Given the description of an element on the screen output the (x, y) to click on. 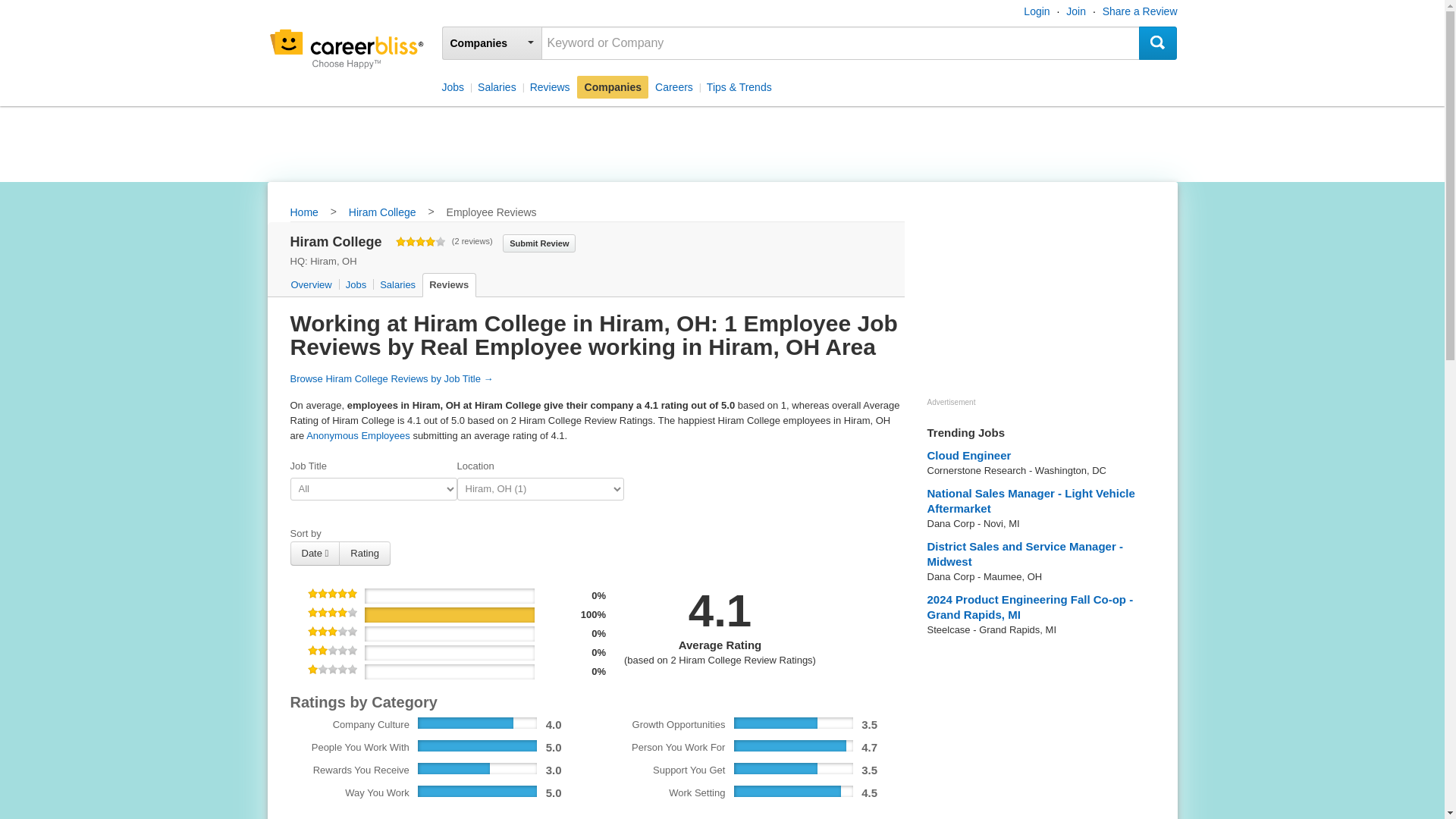
Join (1075, 10)
Careers (673, 87)
Hiram College (382, 212)
Login (1036, 10)
Salaries (396, 284)
See all Anonymous Employee reviews at Hiram College (357, 435)
Overview (312, 284)
Salaries (496, 87)
Share your company review with the CareerBliss community! (538, 242)
Share a Review (1139, 10)
